Given the description of an element on the screen output the (x, y) to click on. 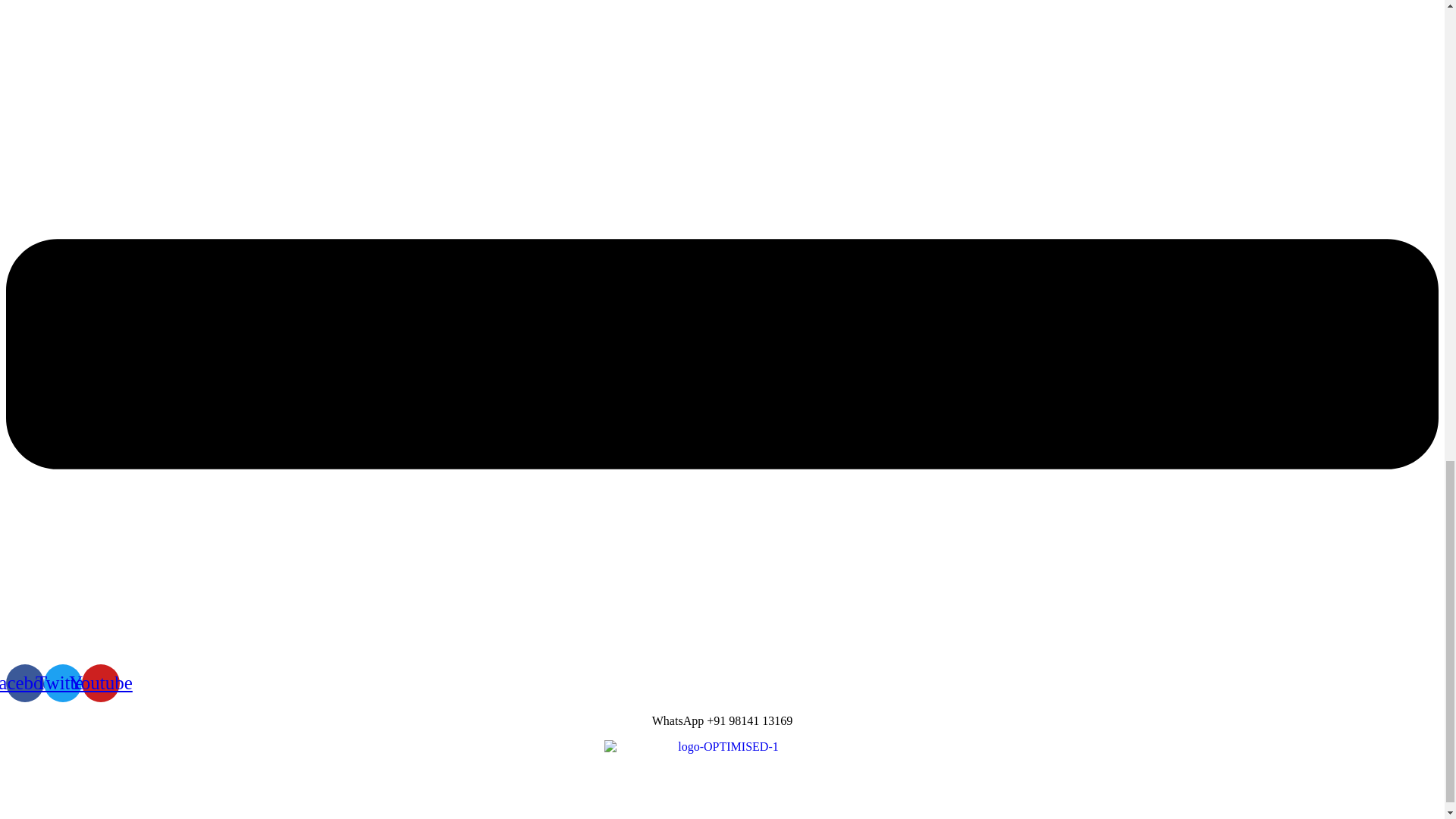
Youtube (100, 682)
Facebook (24, 682)
Twitter (62, 682)
